Given the description of an element on the screen output the (x, y) to click on. 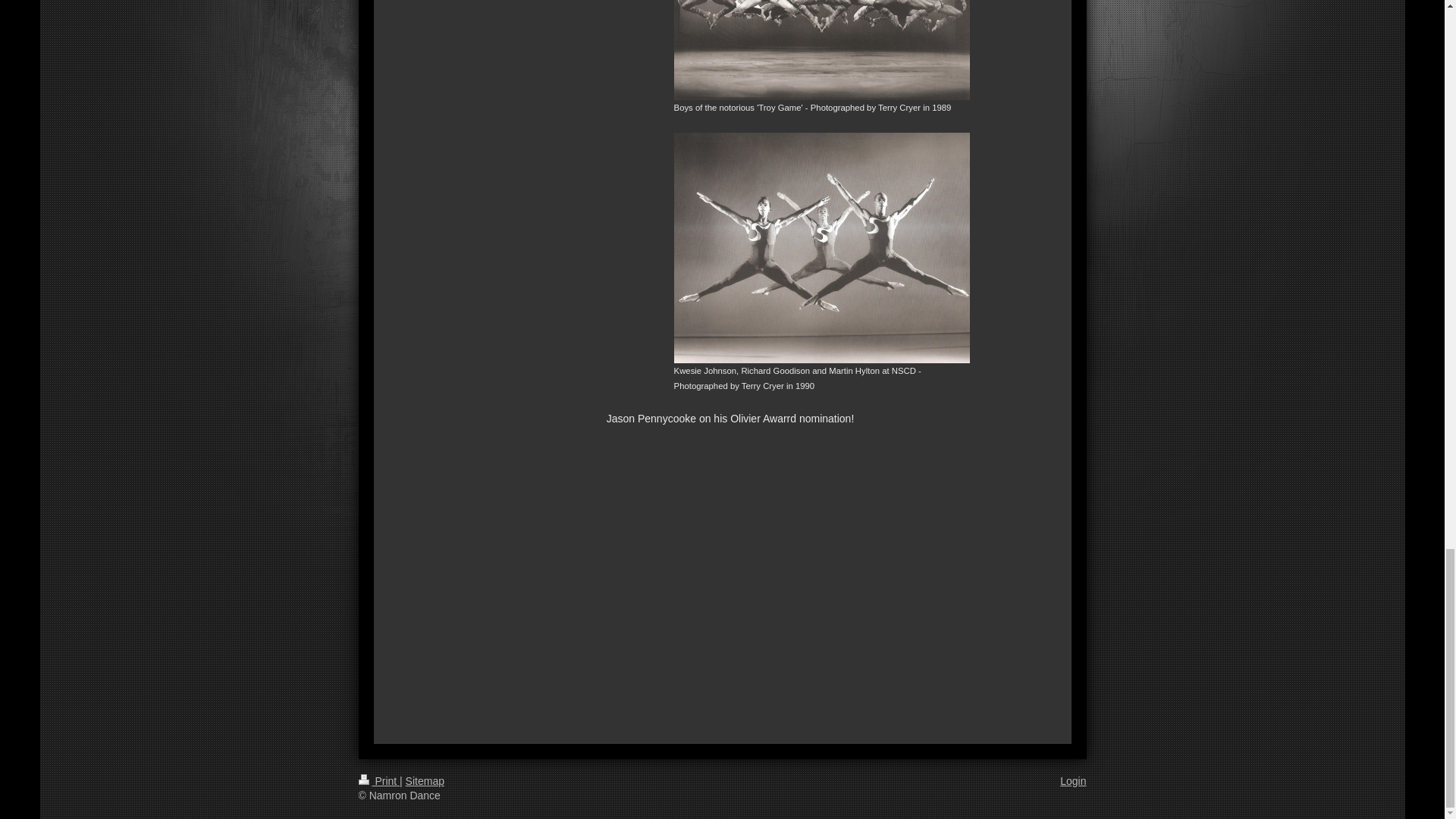
Print (378, 780)
Login (1072, 780)
Sitemap (425, 780)
